Given the description of an element on the screen output the (x, y) to click on. 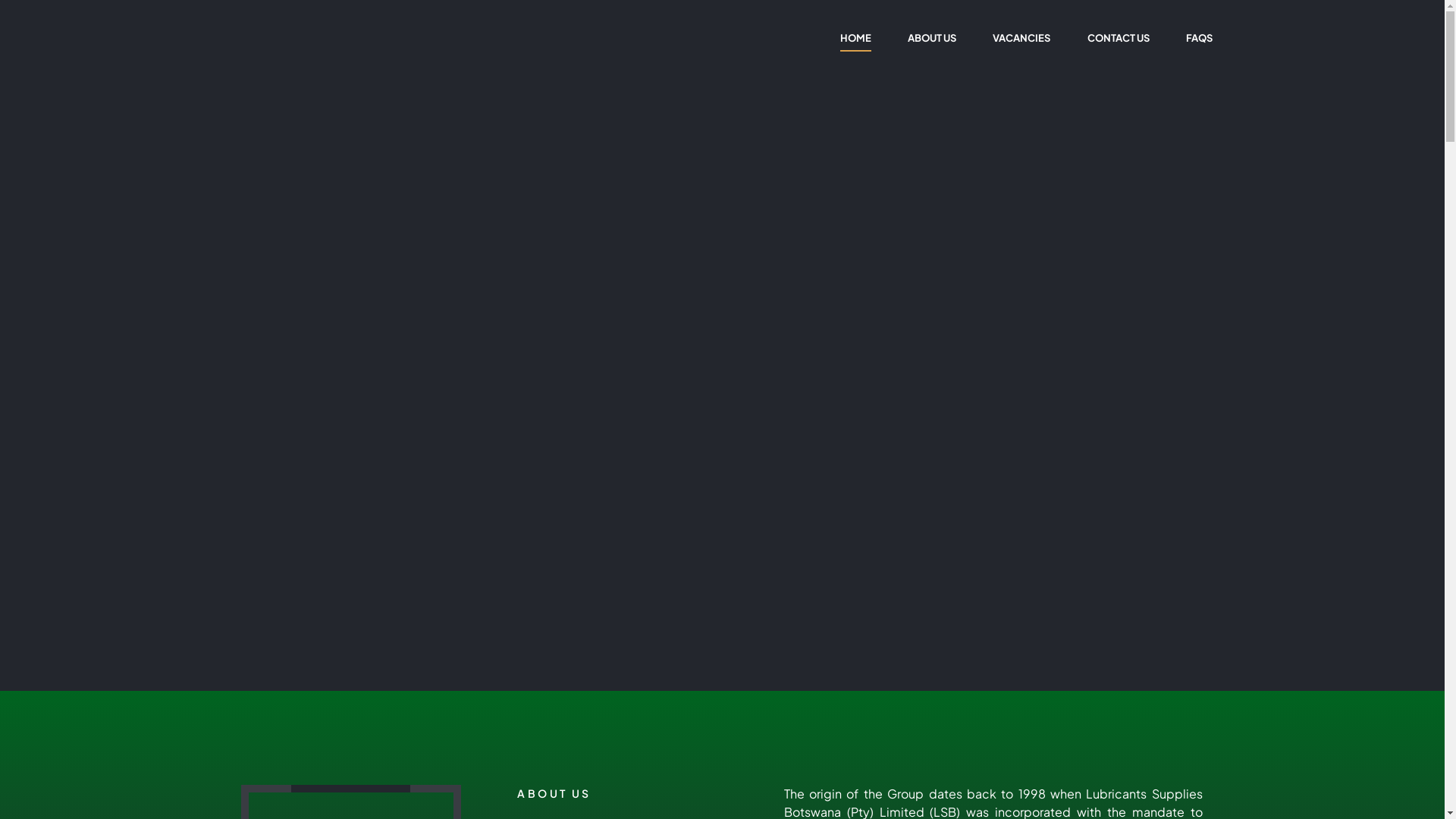
FAQS Element type: text (1198, 37)
ABOUT US Element type: text (932, 37)
VACANCIES Element type: text (1021, 37)
CONTACT US Element type: text (1118, 37)
HOME Element type: text (855, 37)
